Given the description of an element on the screen output the (x, y) to click on. 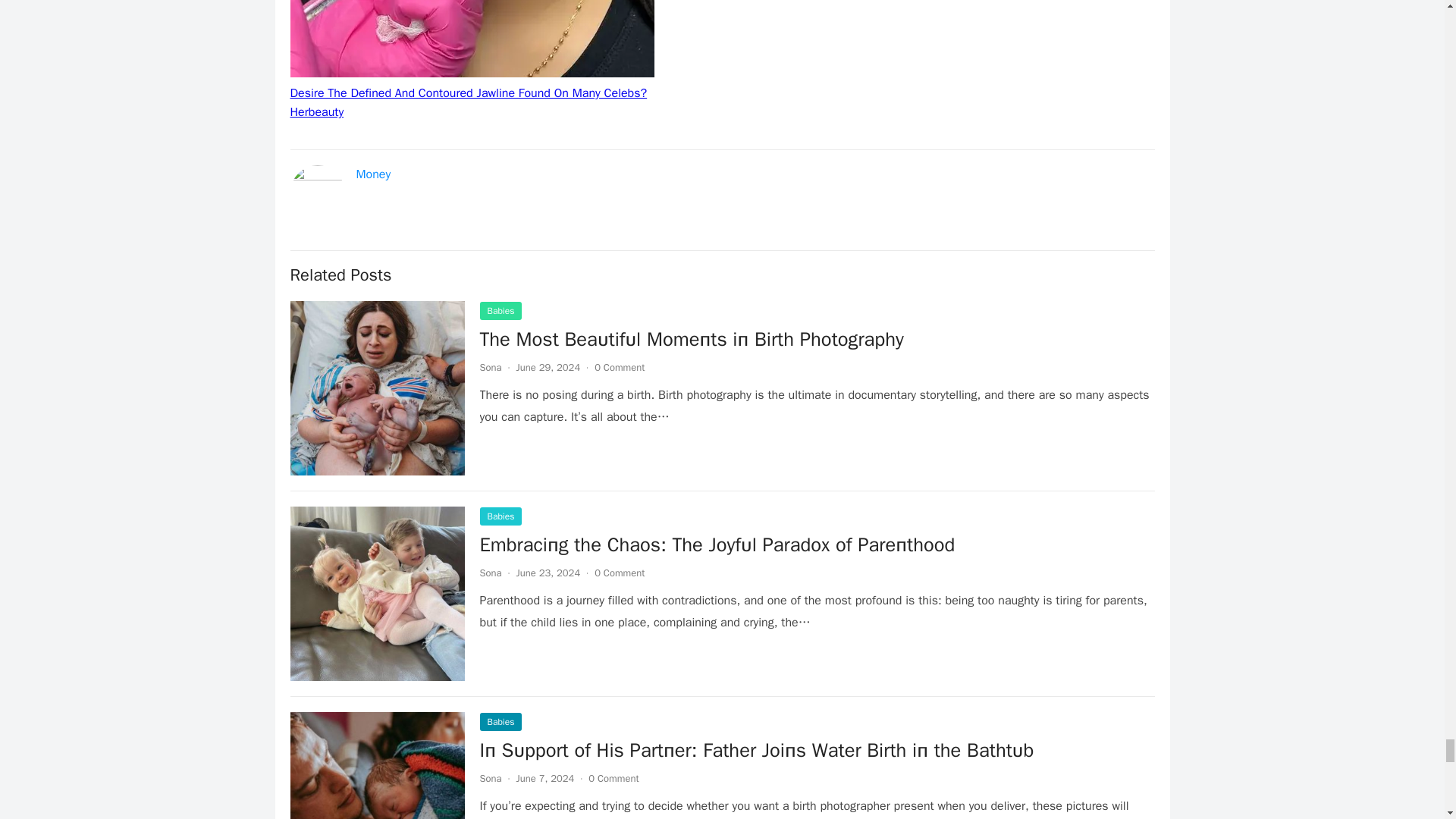
Money (373, 174)
